Given the description of an element on the screen output the (x, y) to click on. 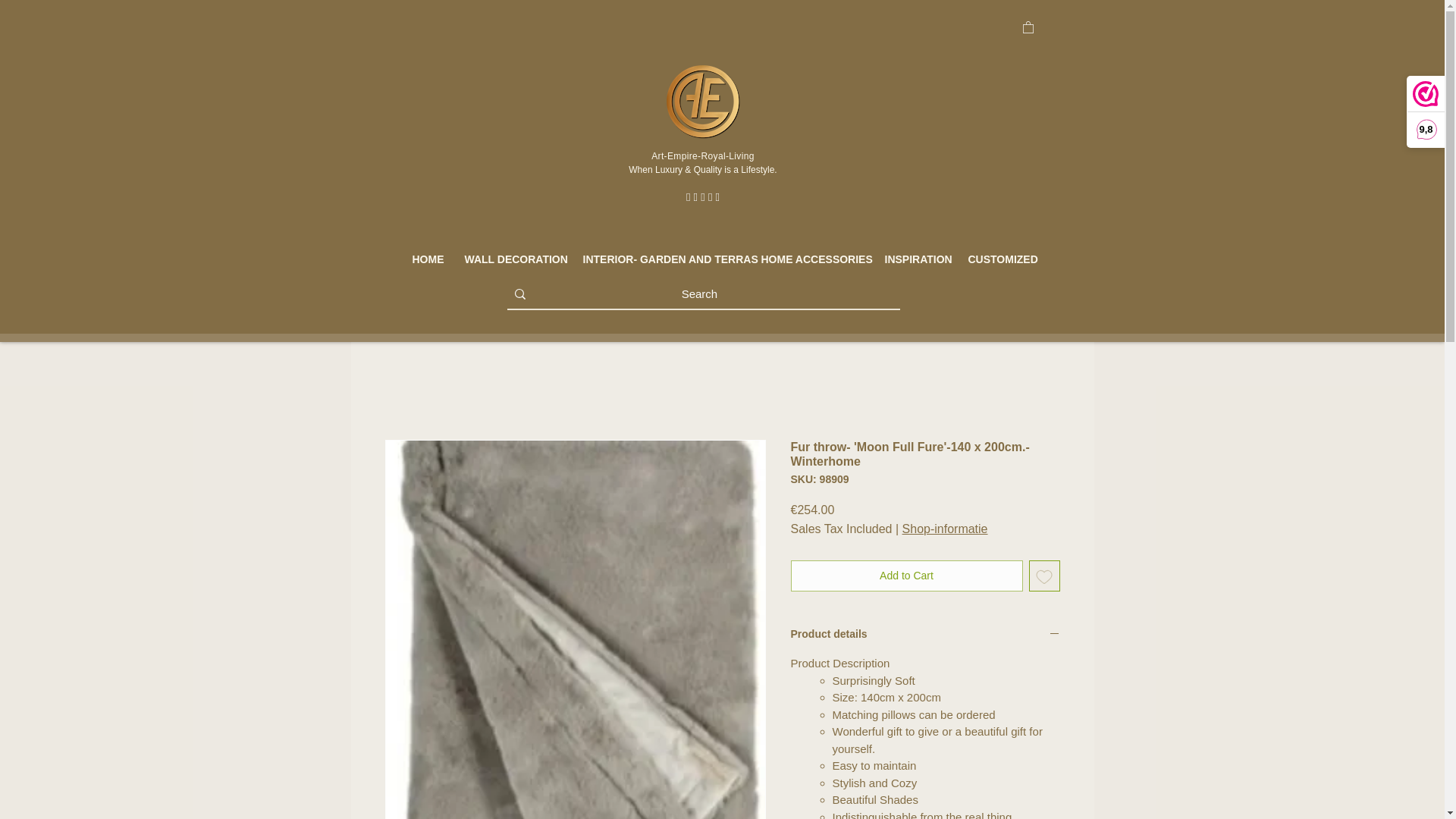
WALL DECORATION (512, 259)
INTERIOR- GARDEN AND TERRAS (660, 259)
HOME (426, 259)
